Given the description of an element on the screen output the (x, y) to click on. 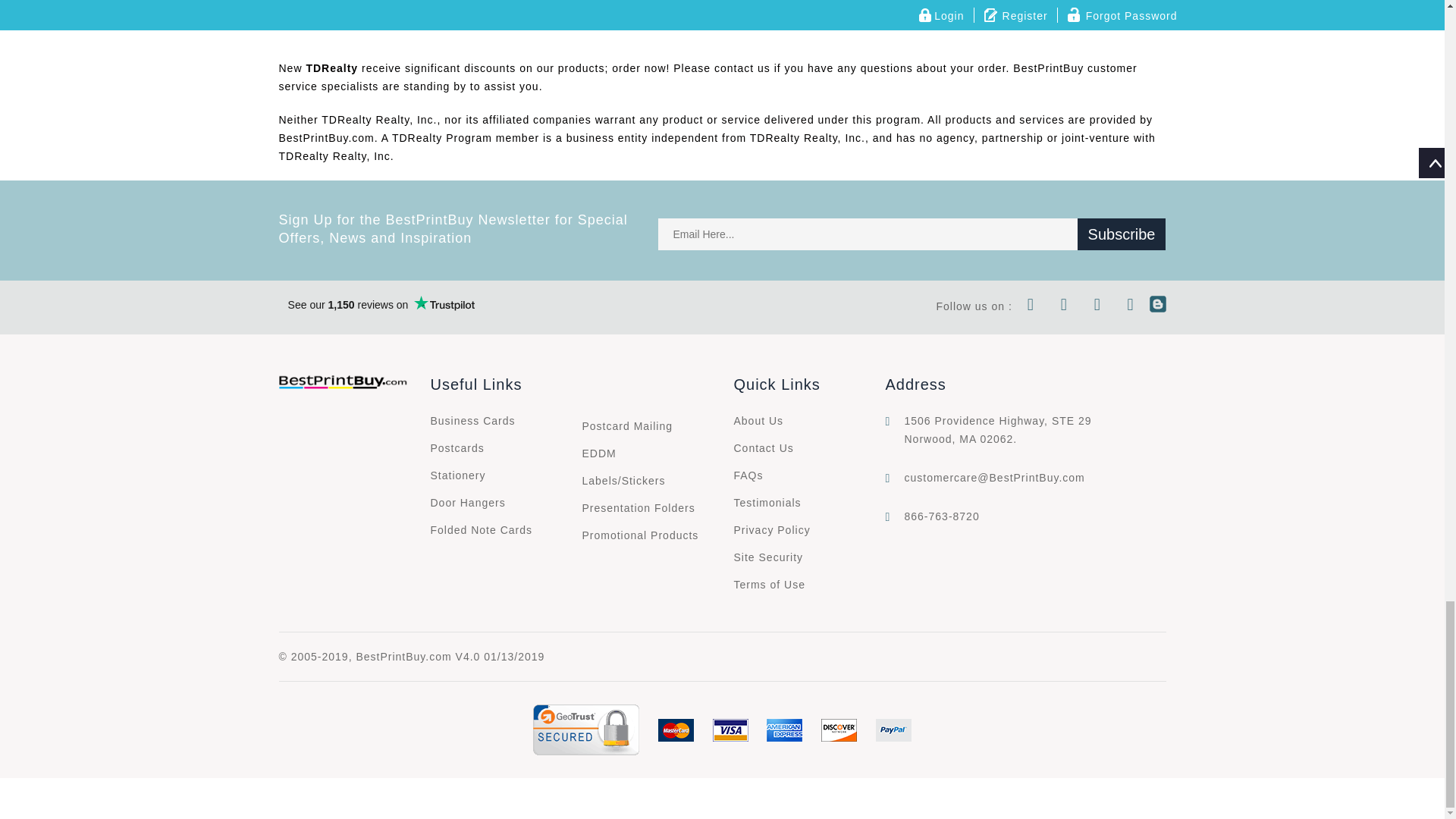
Business Cards (472, 420)
Pinterest (1130, 306)
Twitter (1063, 306)
Customer reviews powered by Trustpilot (381, 304)
Subscribe (1121, 234)
blogger (1158, 306)
Linkedin (1097, 306)
Facebook (1030, 306)
